Given the description of an element on the screen output the (x, y) to click on. 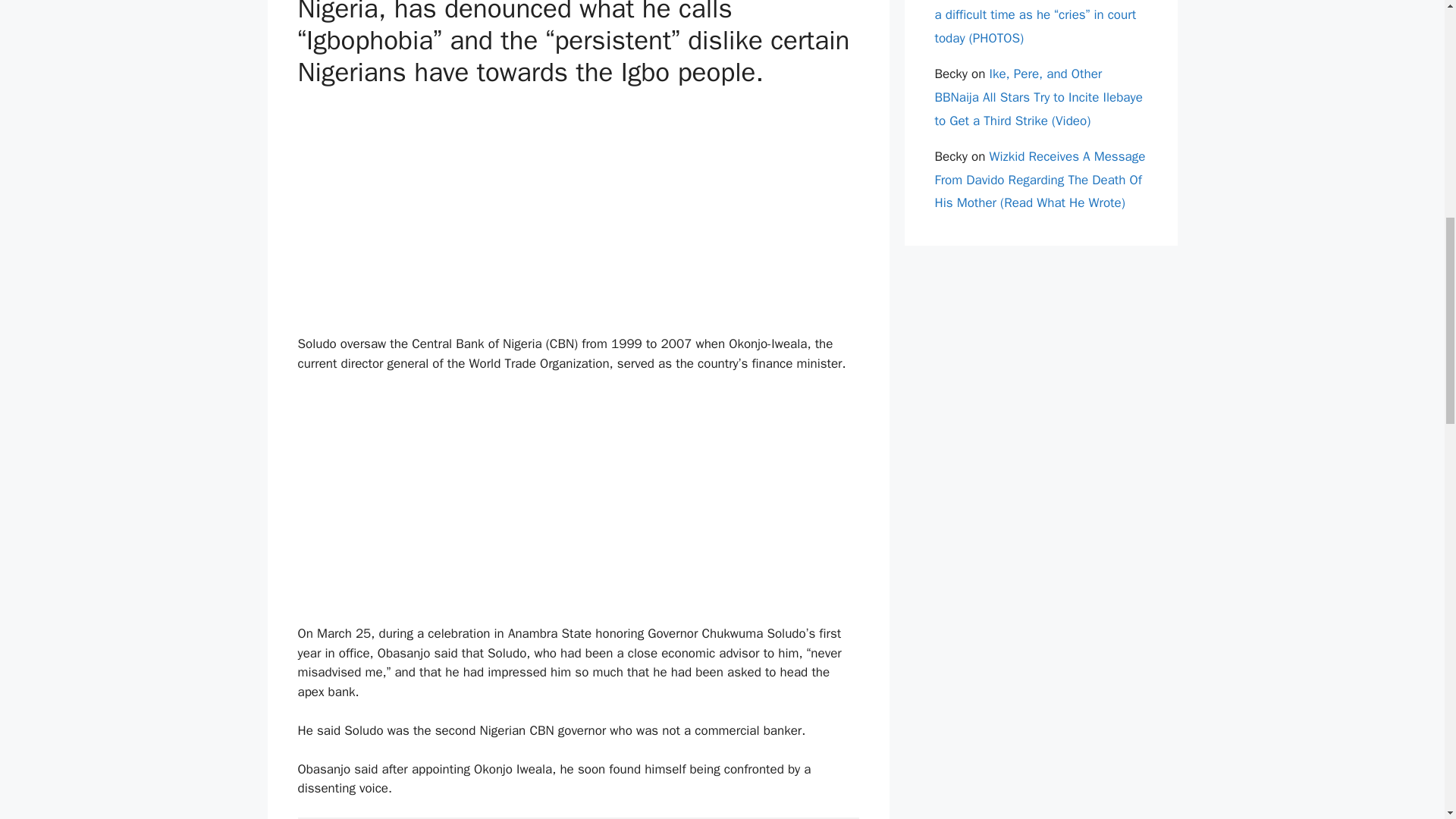
Advertisement (578, 499)
Advertisement (578, 209)
